Given the description of an element on the screen output the (x, y) to click on. 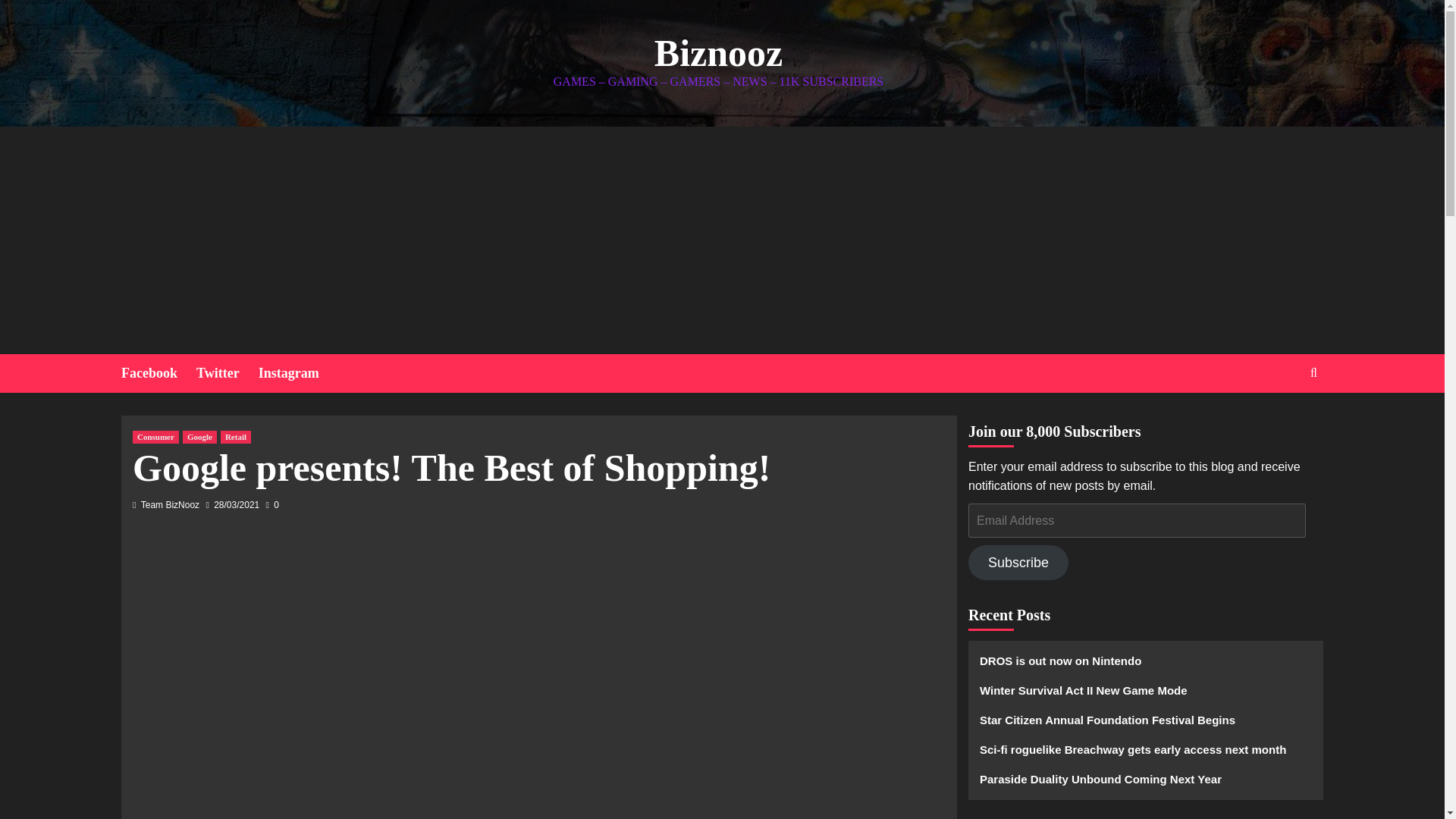
Twitter (227, 373)
Instagram (298, 373)
Team BizNooz (170, 504)
Biznooz (718, 52)
Google presents: The Best of Shopping (374, 680)
0 (272, 504)
Consumer (155, 436)
Search (1278, 419)
Facebook (158, 373)
Retail (235, 436)
Google (199, 436)
